Given the description of an element on the screen output the (x, y) to click on. 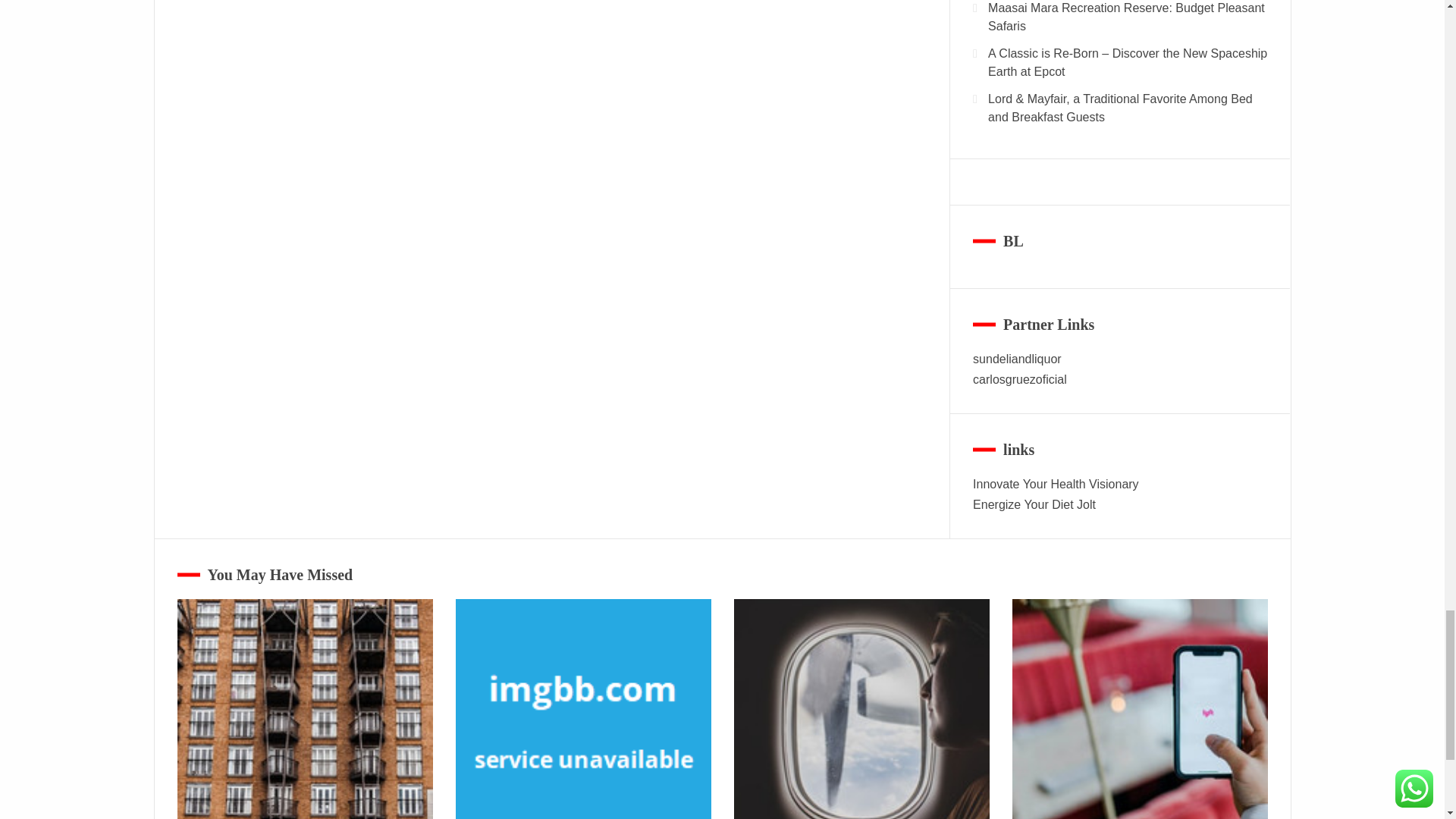
Pet Friendly Virginia Getaways (304, 708)
Head to the Pilansberg For a Wonderful Safari (582, 708)
Maasai Mara Recreation Reserve: Budget Pleasant Safaris (861, 708)
